Given the description of an element on the screen output the (x, y) to click on. 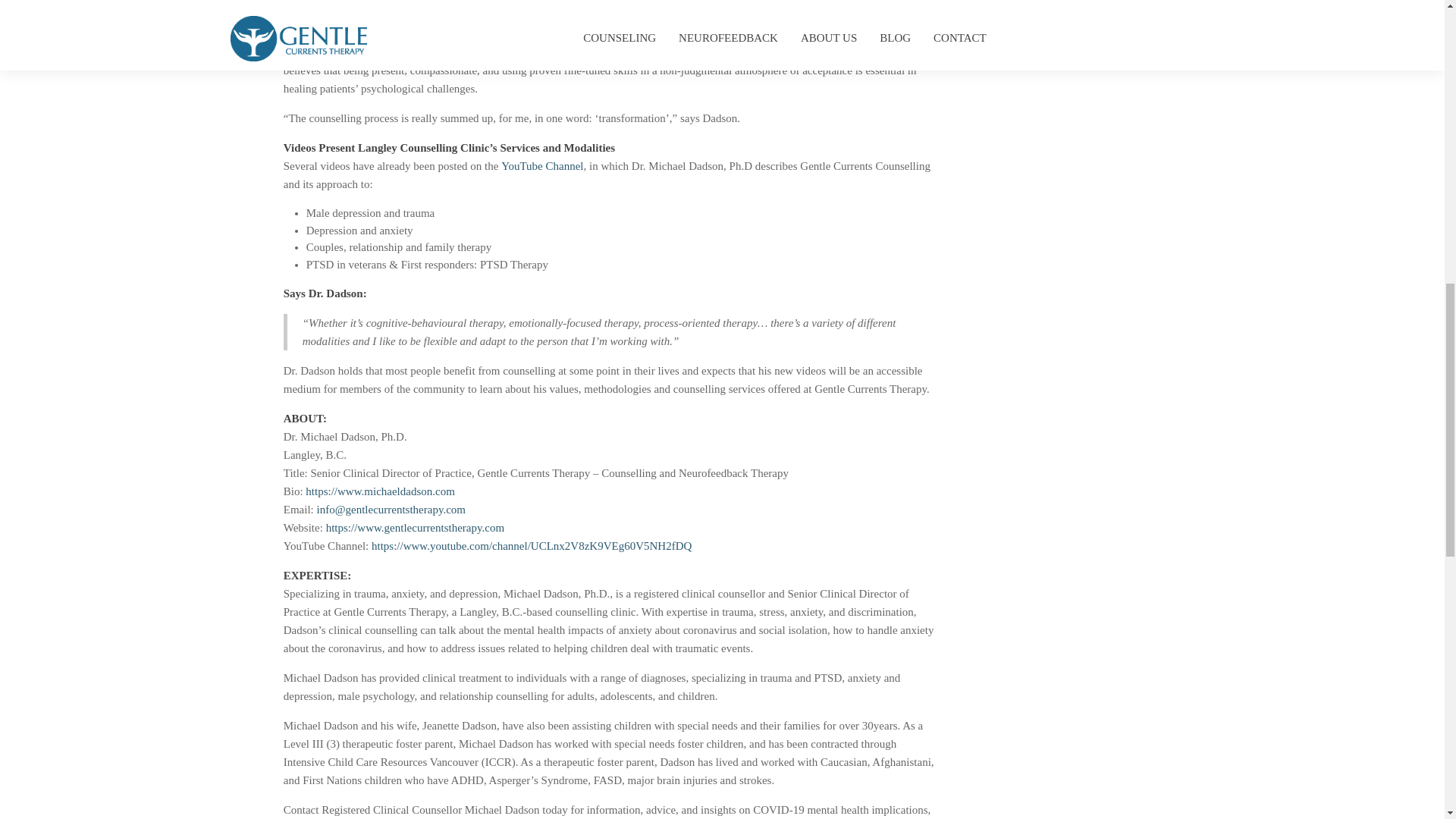
YouTube Channel (541, 165)
